Given the description of an element on the screen output the (x, y) to click on. 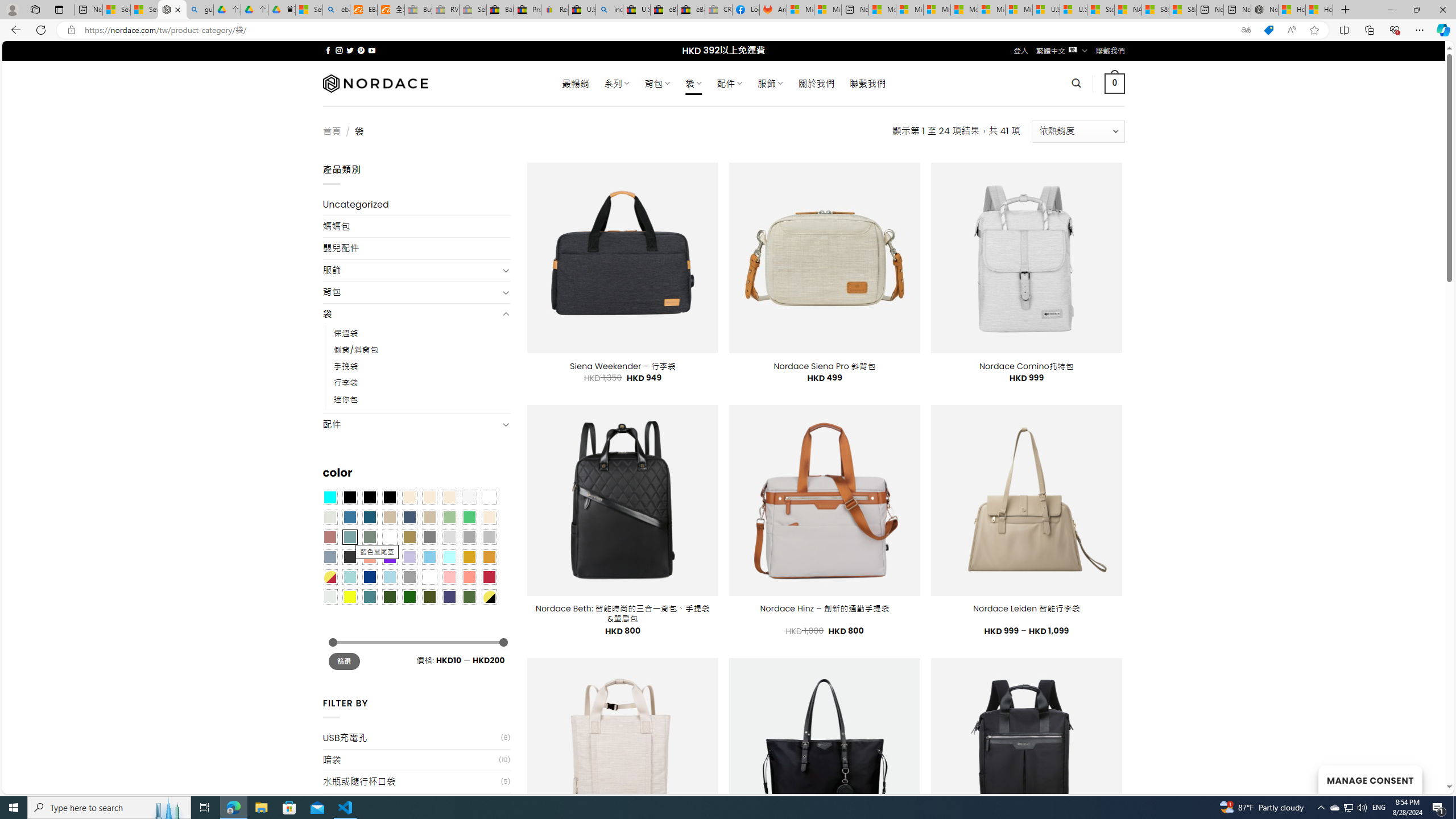
eBay Inc. Reports Third Quarter 2023 Results (691, 9)
New Tab (1346, 9)
Nordace (374, 83)
